Given the description of an element on the screen output the (x, y) to click on. 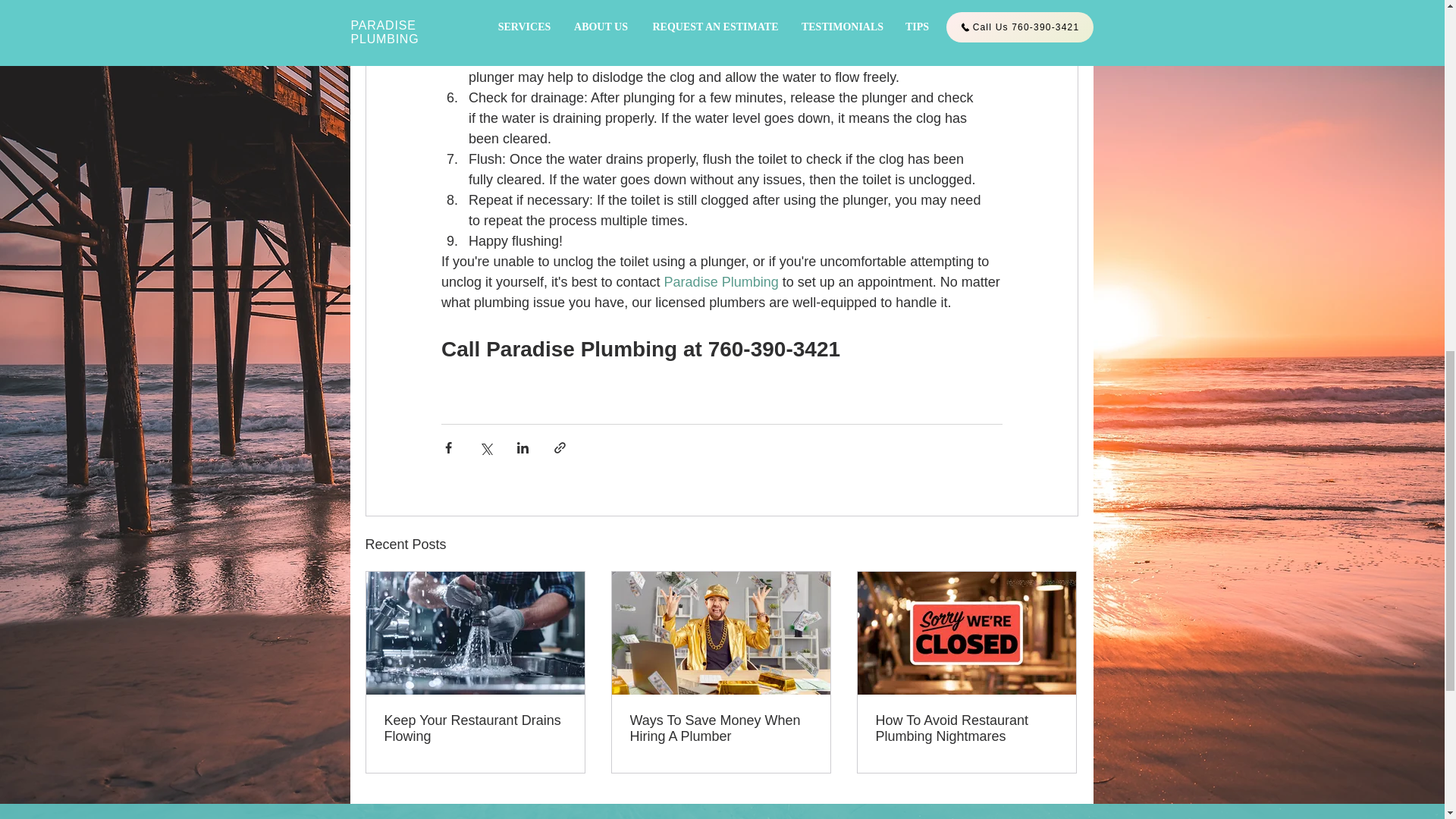
Paradise Plumbing (720, 281)
How To Avoid Restaurant Plumbing Nightmares (966, 728)
Ways To Save Money When Hiring A Plumber (719, 728)
Keep Your Restaurant Drains Flowing (475, 728)
